Given the description of an element on the screen output the (x, y) to click on. 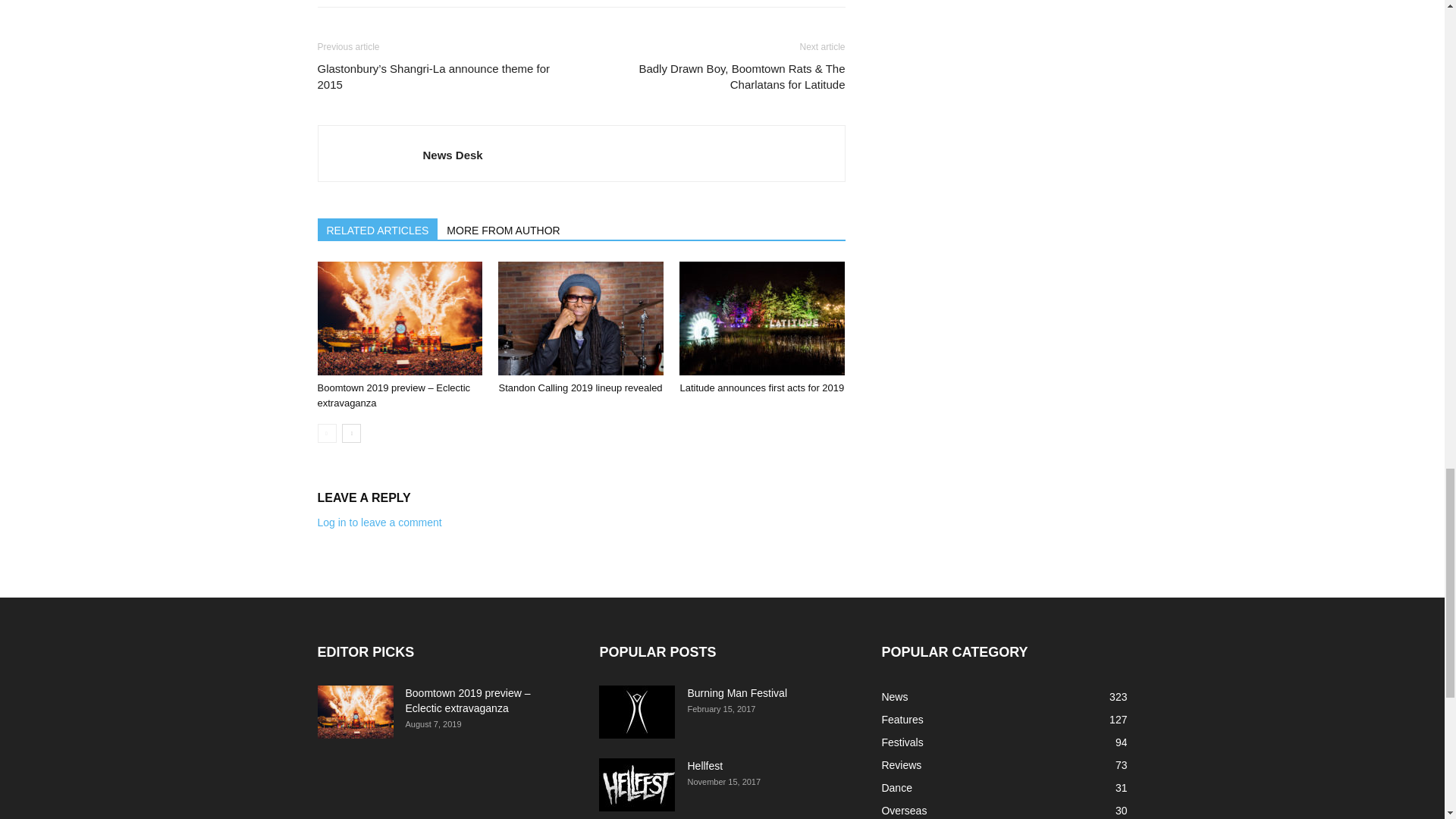
Latitude announces first acts for 2019 (761, 387)
Standon Calling 2019 lineup revealed (579, 387)
Burning Man Festival (636, 711)
Latitude announces first acts for 2019 (761, 318)
Standon Calling 2019 lineup revealed (580, 318)
